Given the description of an element on the screen output the (x, y) to click on. 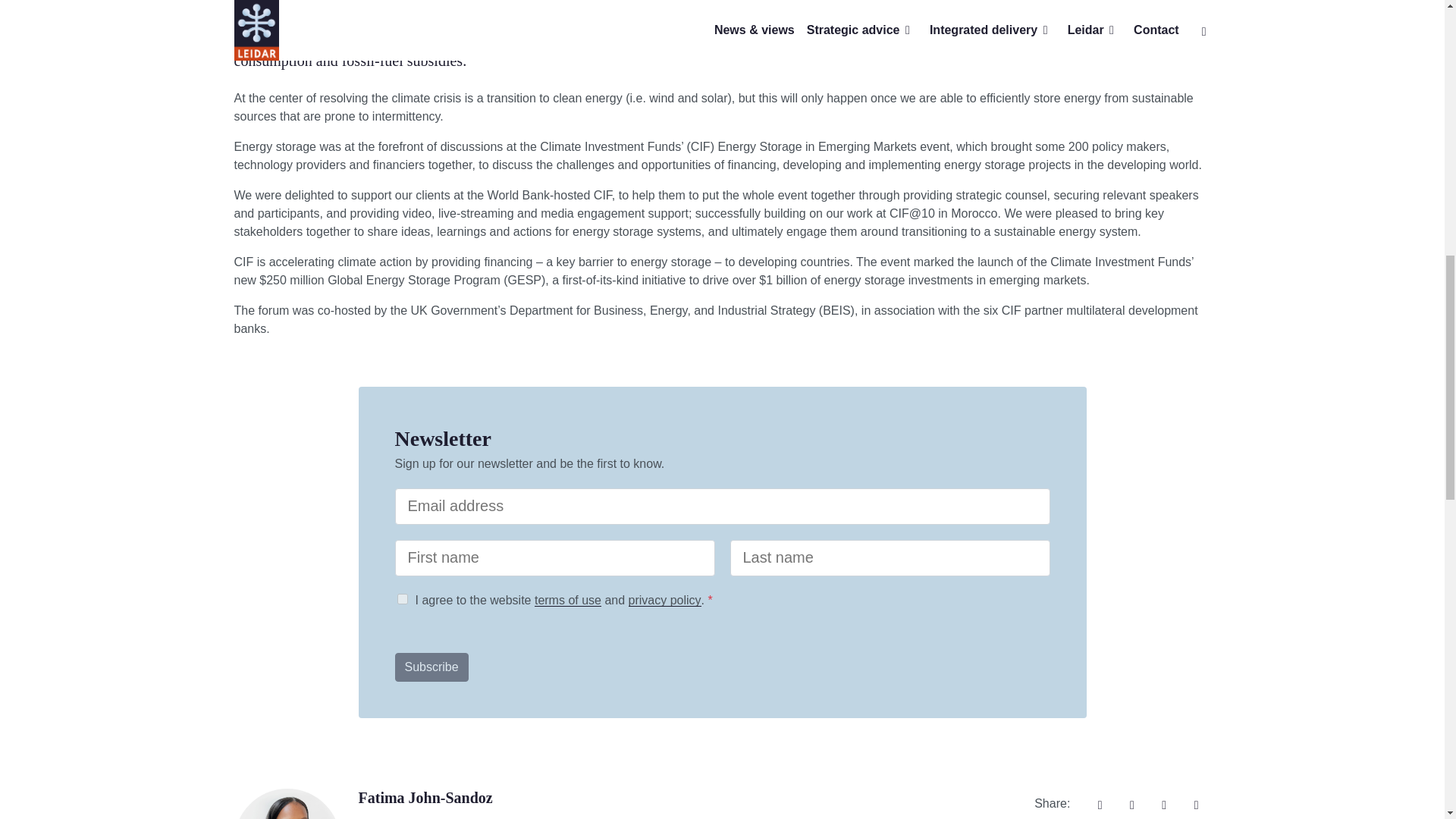
Subscribe (430, 666)
declared a climate emergency (491, 39)
privacy policy (664, 599)
terms of use (567, 599)
